Given the description of an element on the screen output the (x, y) to click on. 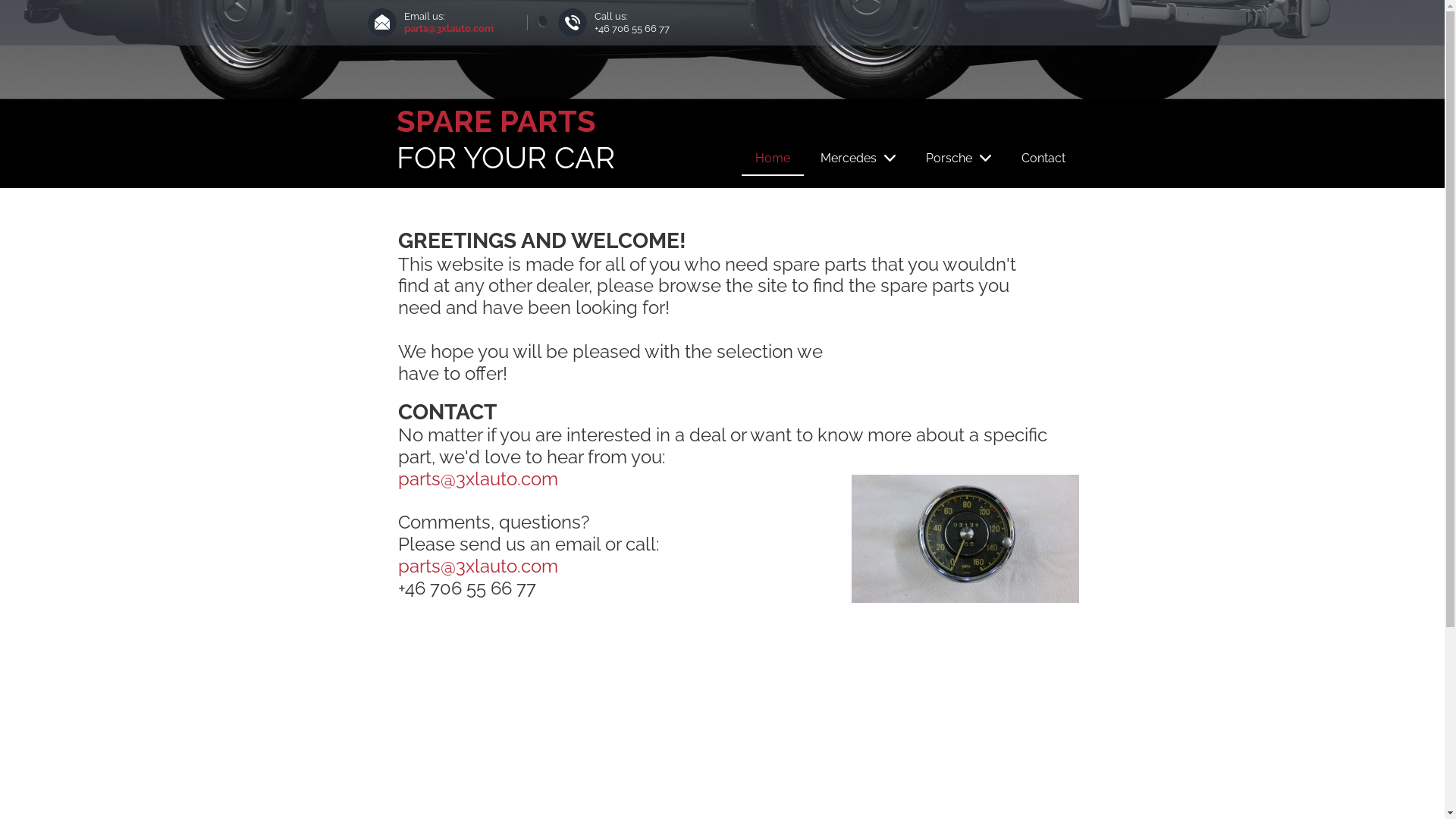
Porsche Element type: text (957, 158)
parts@3xlauto.com Element type: text (447, 28)
Home Element type: text (772, 158)
parts@3xlauto.com Element type: text (477, 478)
Mercedes Element type: text (857, 158)
Email us:
parts@3xlauto.com
Call us:
+46 706 55 66 77 Element type: text (721, 22)
parts@3xlauto.com Element type: text (477, 566)
SPARE PARTS FOR YOUR CAR
Home
Mercedes
Porsche
Contact Element type: text (721, 94)
Contact Element type: text (1042, 158)
